Given the description of an element on the screen output the (x, y) to click on. 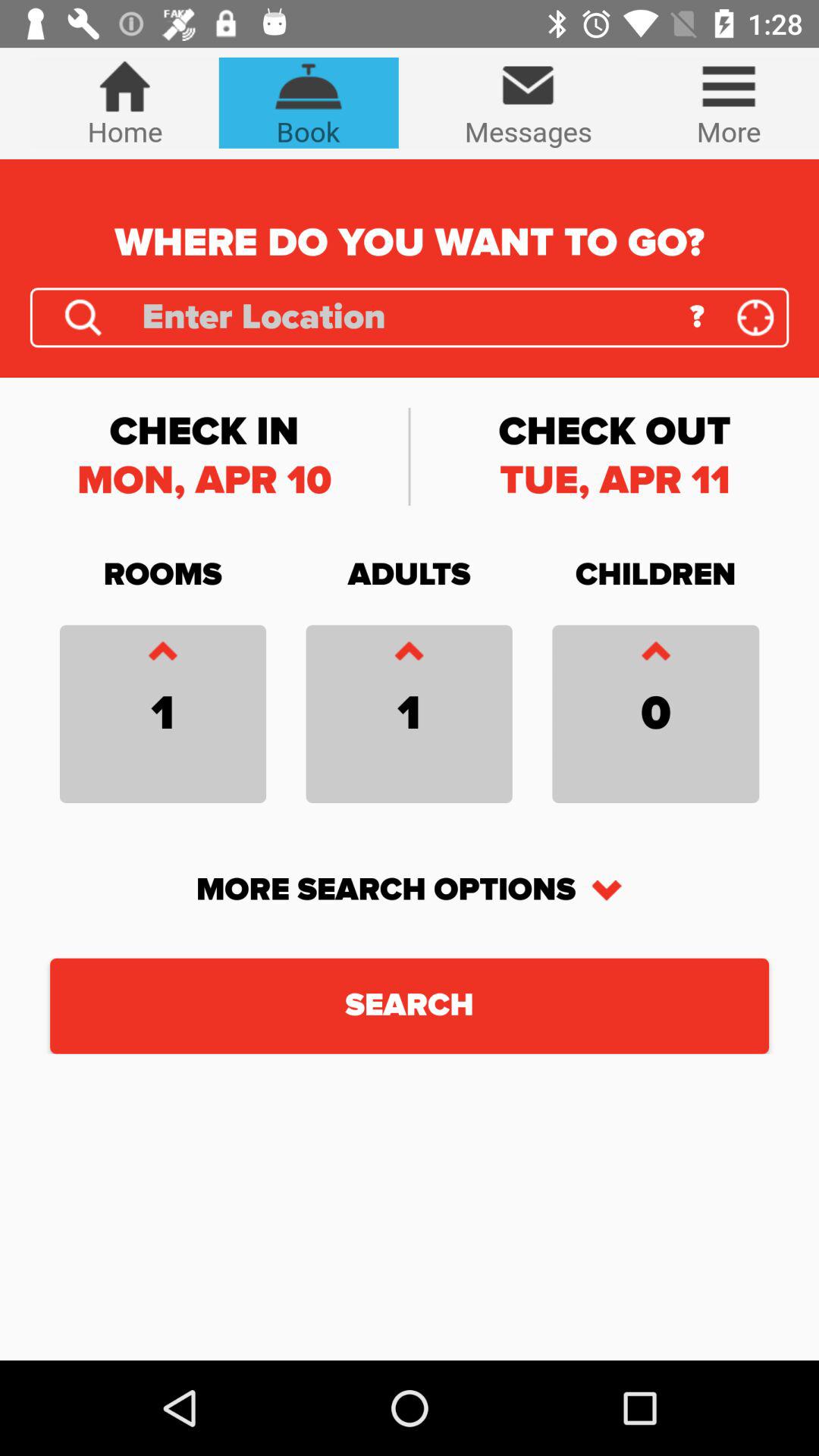
push up (162, 654)
